Given the description of an element on the screen output the (x, y) to click on. 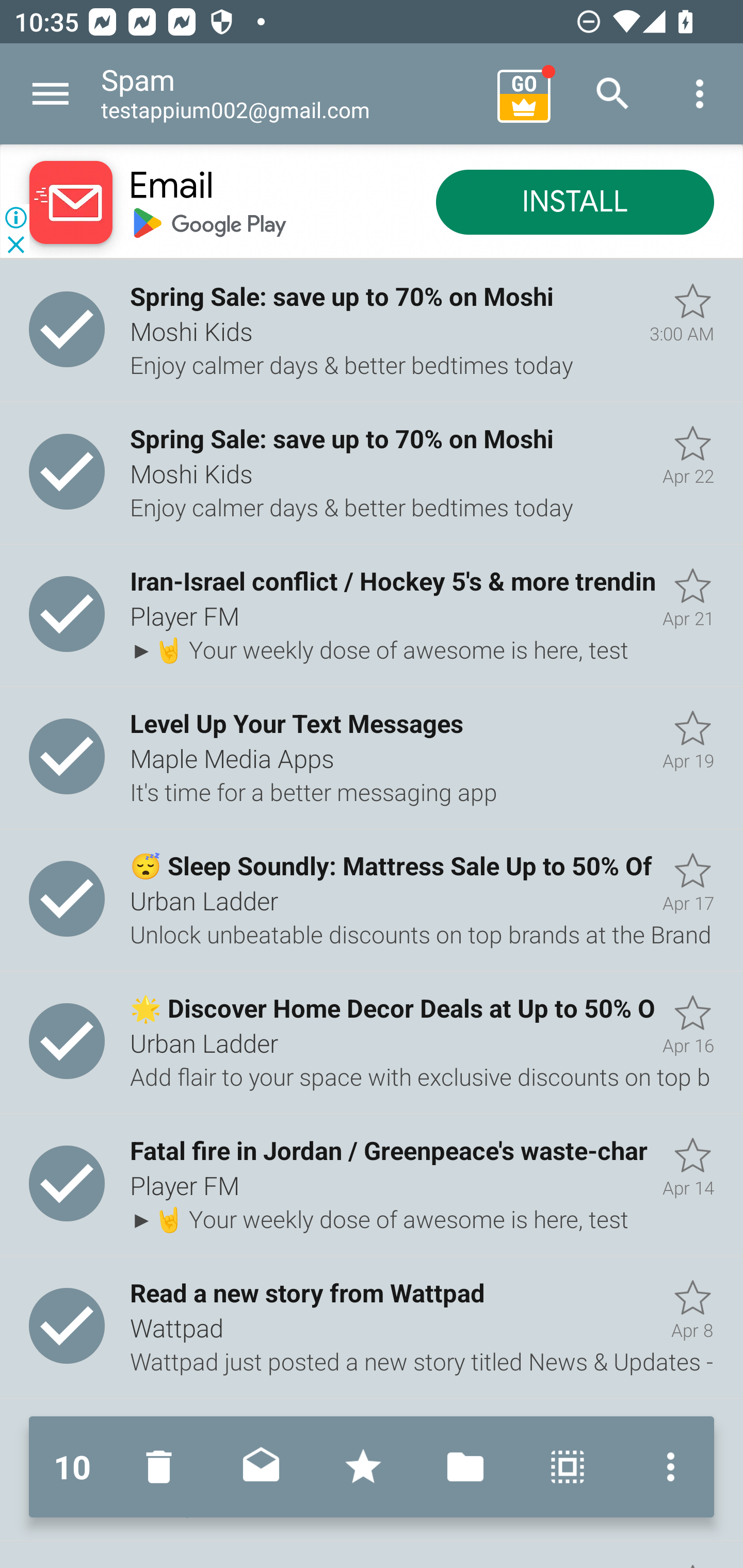
Navigate up (50, 93)
Spam testappium002@gmail.com (291, 93)
Search (612, 93)
More options (699, 93)
Email (171, 186)
INSTALL (575, 202)
10 10 messages (71, 1466)
Move to Deleted (162, 1466)
Mark read (261, 1466)
Mark with stars (363, 1466)
Move to folder… (465, 1466)
Select all (567, 1466)
More options (666, 1466)
